Given the description of an element on the screen output the (x, y) to click on. 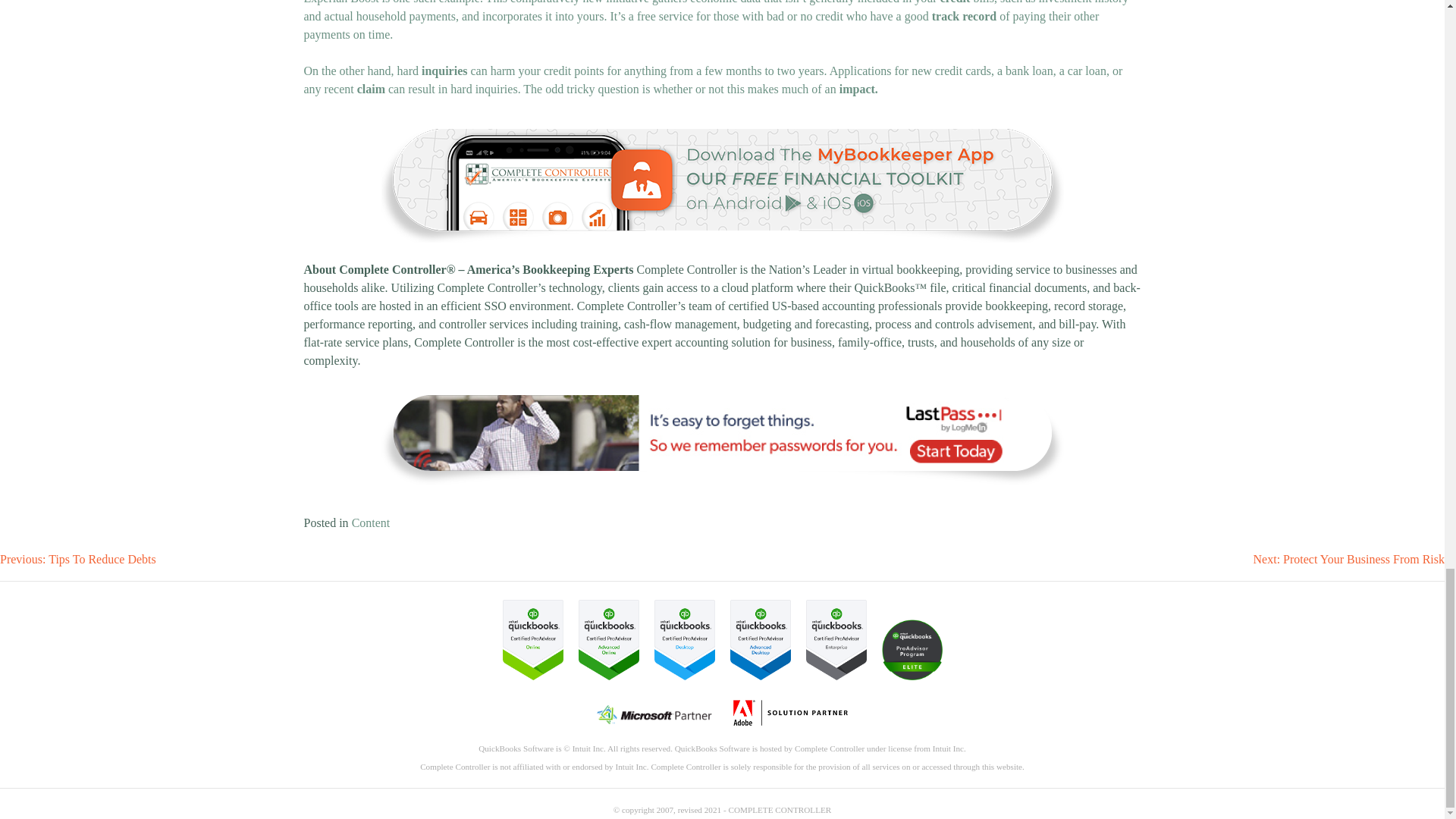
Content (371, 522)
Previous: Tips To Reduce Debts (77, 558)
